Given the description of an element on the screen output the (x, y) to click on. 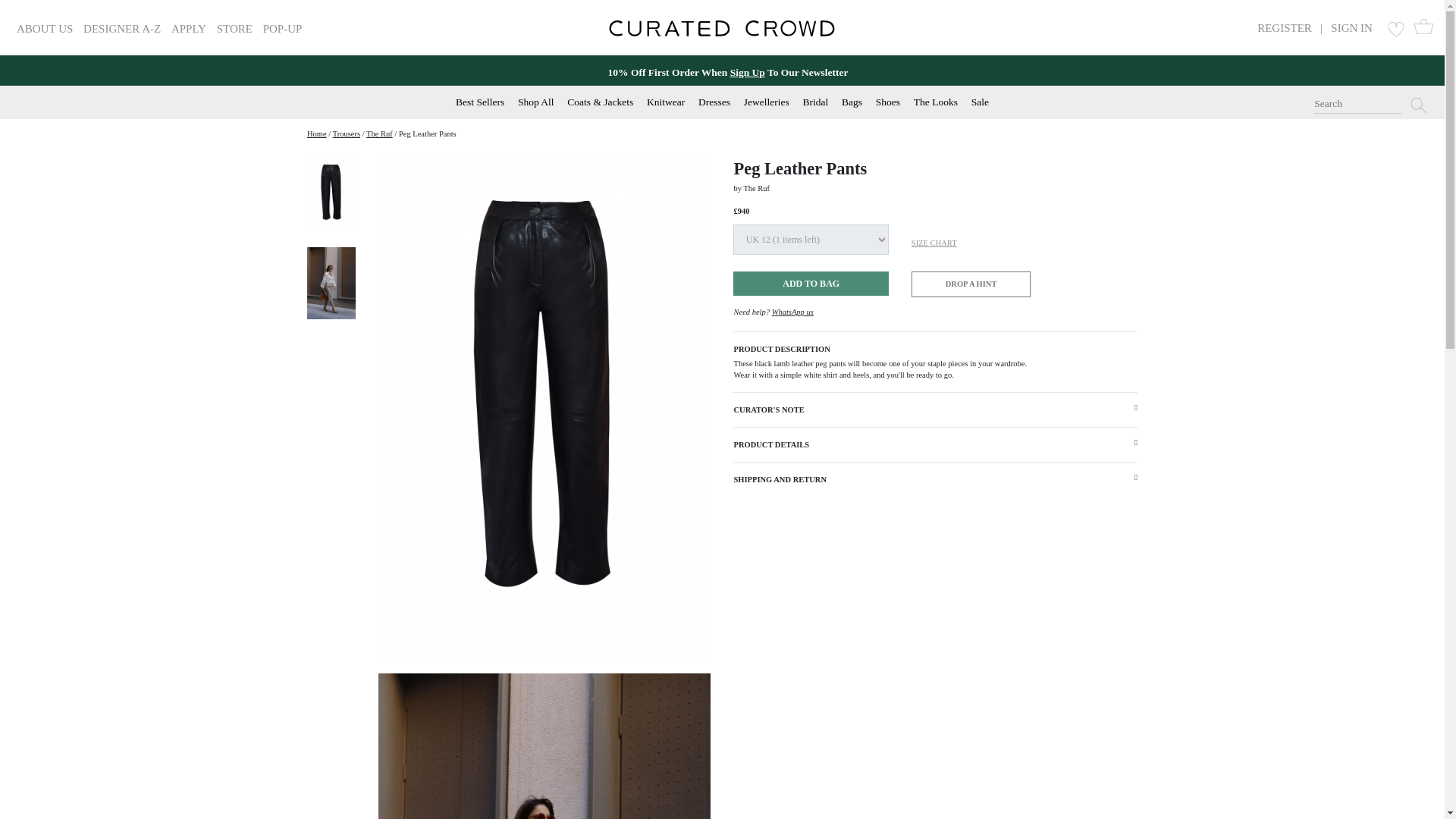
Knitwear (665, 102)
ABOUT US (44, 28)
The Looks (936, 102)
Shoes (887, 102)
The Ruf (379, 132)
Search (1357, 104)
STORE (233, 28)
POP-UP (282, 28)
Sign Up (747, 71)
APPLY (188, 28)
